Given the description of an element on the screen output the (x, y) to click on. 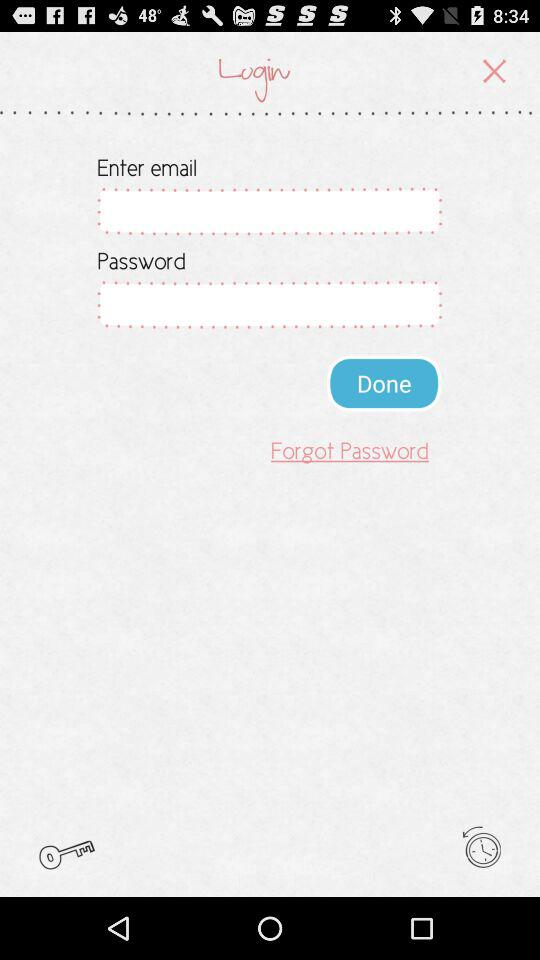
select the icon on the right (384, 382)
